Given the description of an element on the screen output the (x, y) to click on. 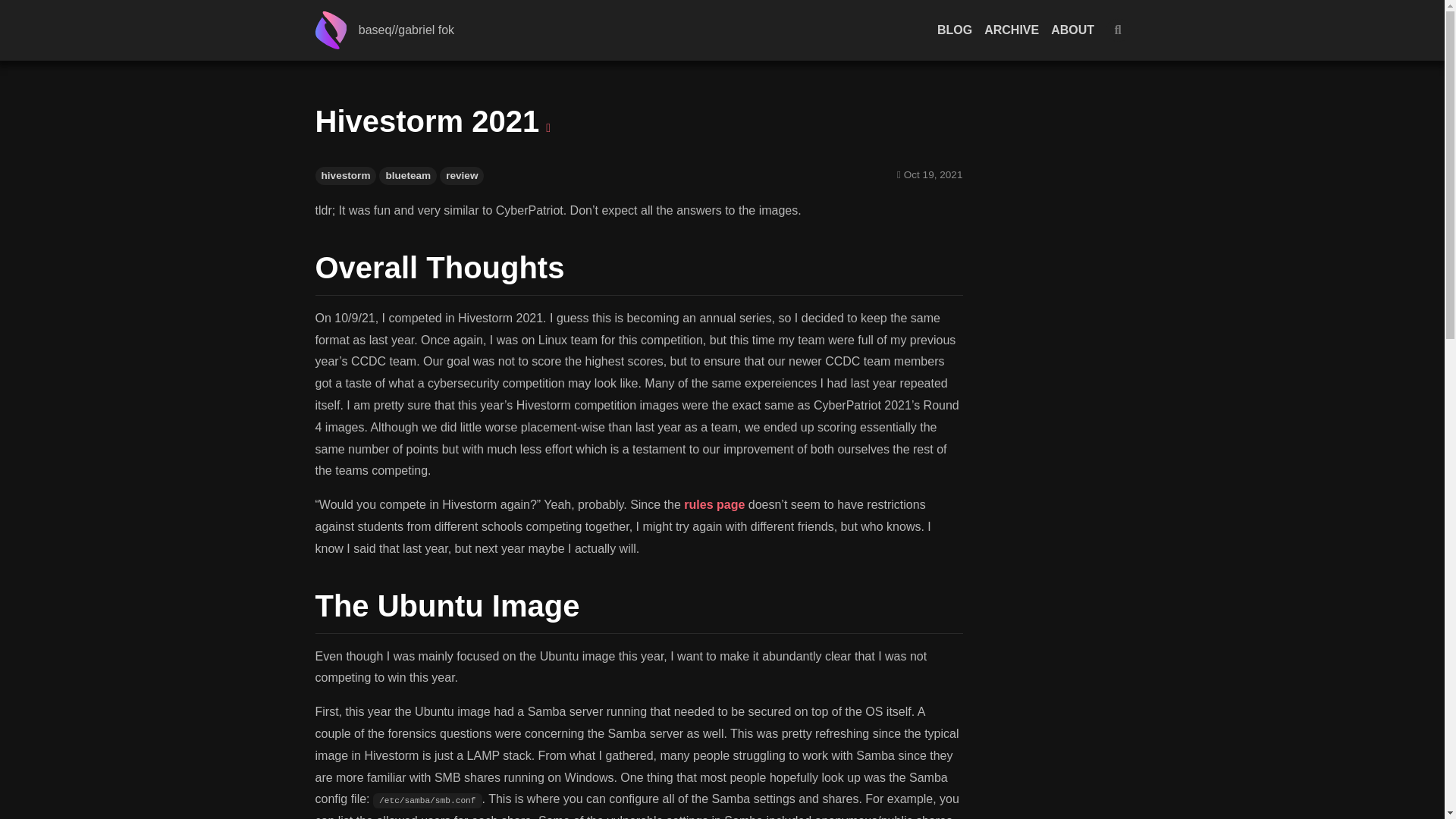
Home (336, 30)
review (461, 176)
hivestorm (346, 176)
blueteam (407, 176)
ABOUT (1072, 29)
BLOG (954, 29)
rules page (714, 504)
ARCHIVE (1011, 29)
